Given the description of an element on the screen output the (x, y) to click on. 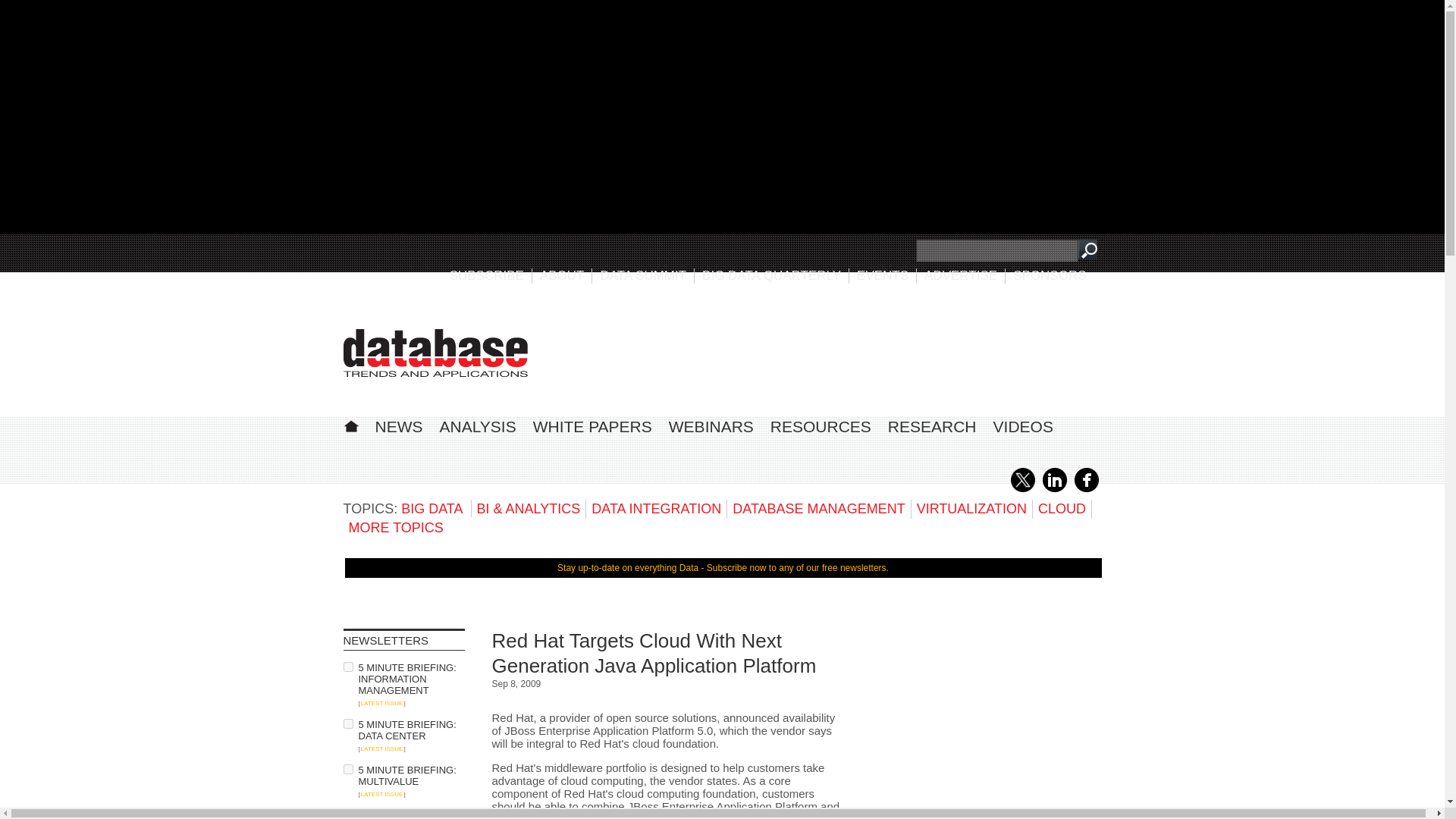
NEWS (398, 425)
ANALYSIS (477, 425)
3rd party ad content (986, 723)
SPONSORS (1049, 275)
RESEARCH (932, 425)
HOME (350, 424)
DBTA on Twitter (1021, 489)
RESOURCES (820, 425)
EVENTS (882, 275)
SUBSCRIBE (486, 275)
DATA SUMMIT (642, 275)
on (347, 768)
on (347, 666)
3rd party ad content (824, 347)
